Given the description of an element on the screen output the (x, y) to click on. 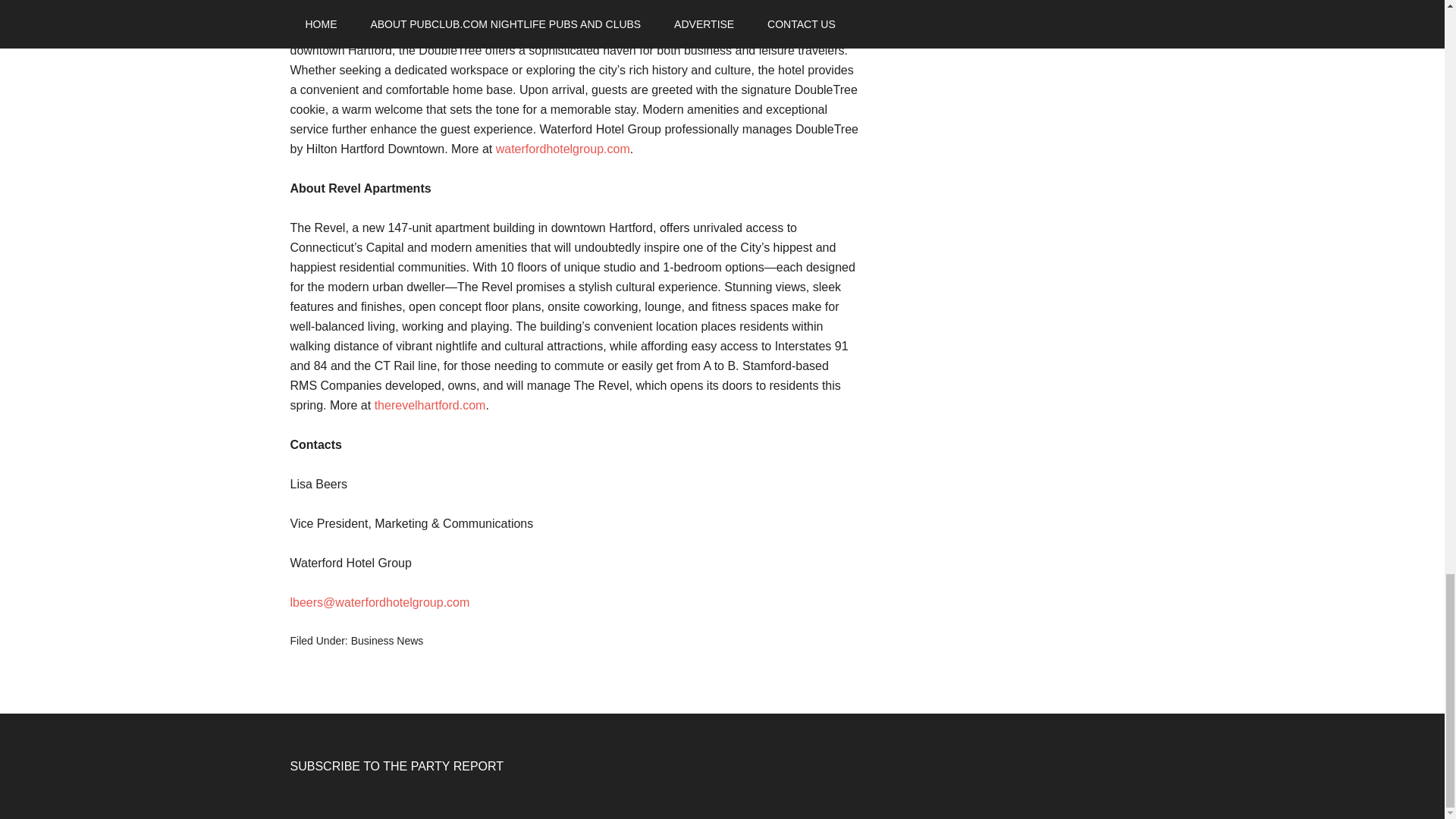
Business News (386, 640)
waterfordhotelgroup.com (563, 148)
therevelhartford.com (430, 404)
